Given the description of an element on the screen output the (x, y) to click on. 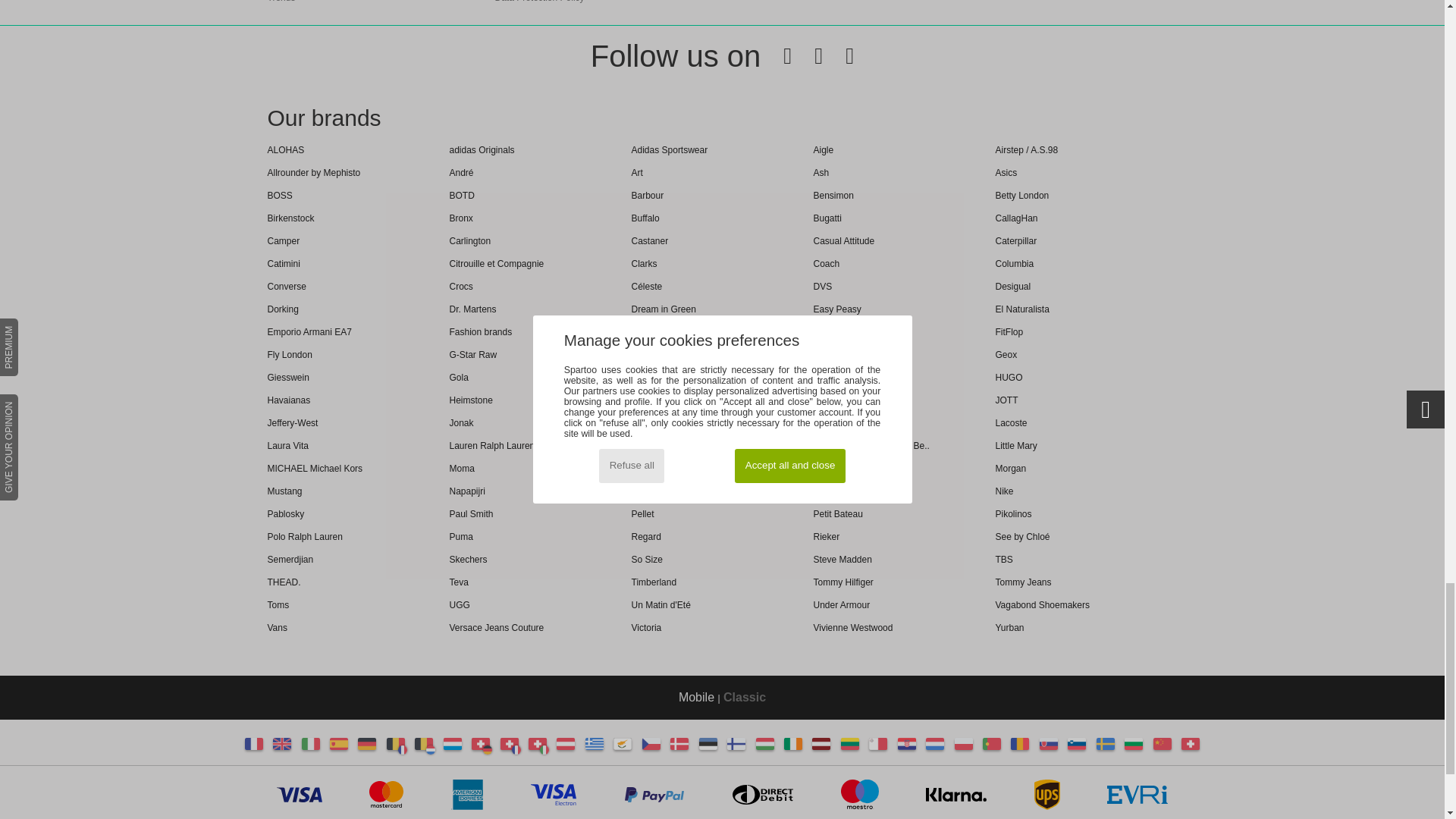
Schweiz (487, 749)
Schweiz (480, 743)
Suisse (509, 743)
Twitter (807, 56)
Luxembourg (452, 743)
Suisse (516, 749)
United Kingdom (282, 743)
Belgique (395, 743)
Facebook (776, 56)
Belgique (402, 749)
Deutschland (366, 743)
France (253, 743)
Instagram (837, 56)
Italia (310, 743)
